Given the description of an element on the screen output the (x, y) to click on. 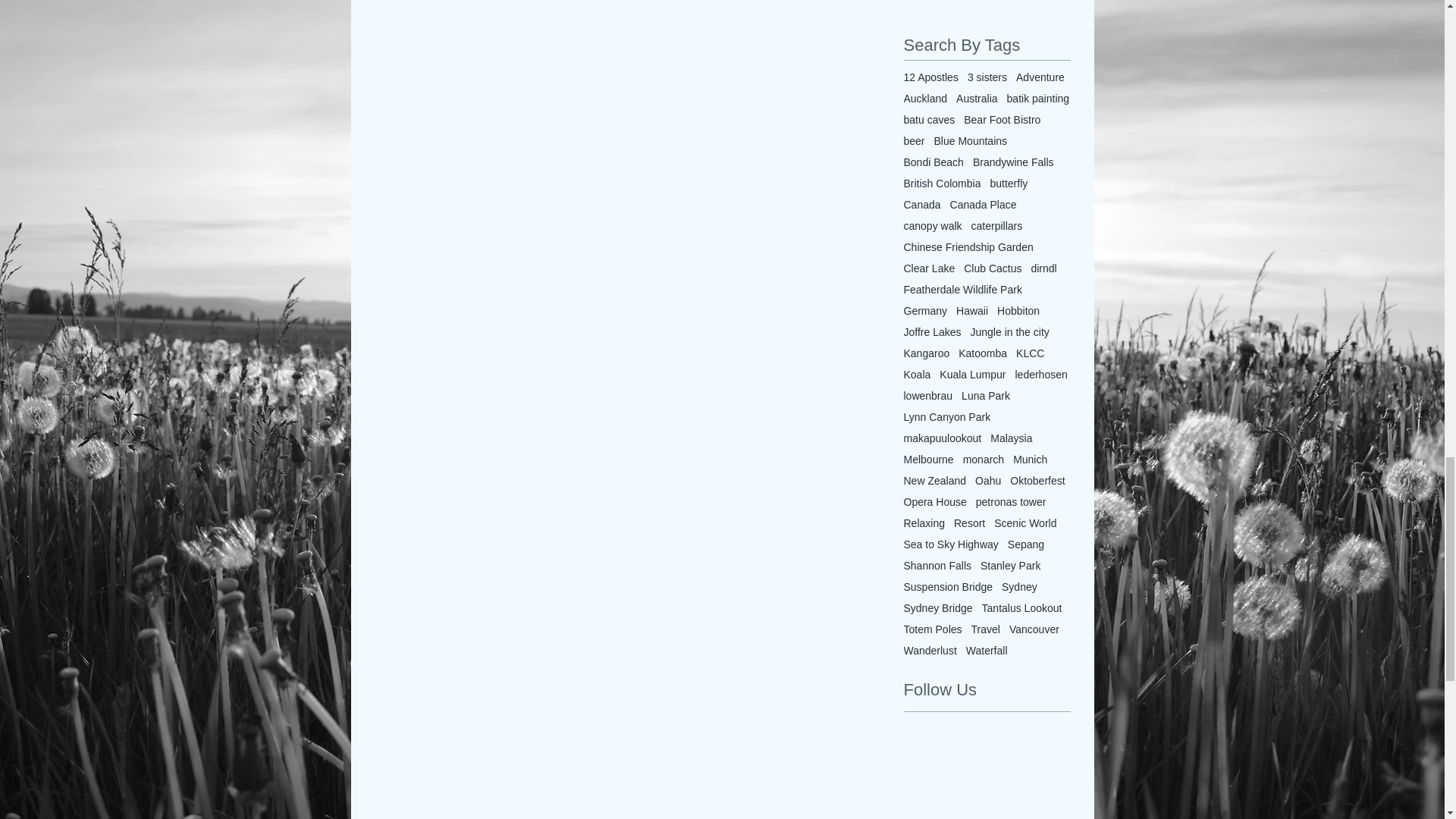
12 Apostles (931, 77)
Auckland (925, 98)
Adventure (1040, 77)
Australia (976, 98)
3 sisters (987, 77)
batik painting (1038, 98)
